Given the description of an element on the screen output the (x, y) to click on. 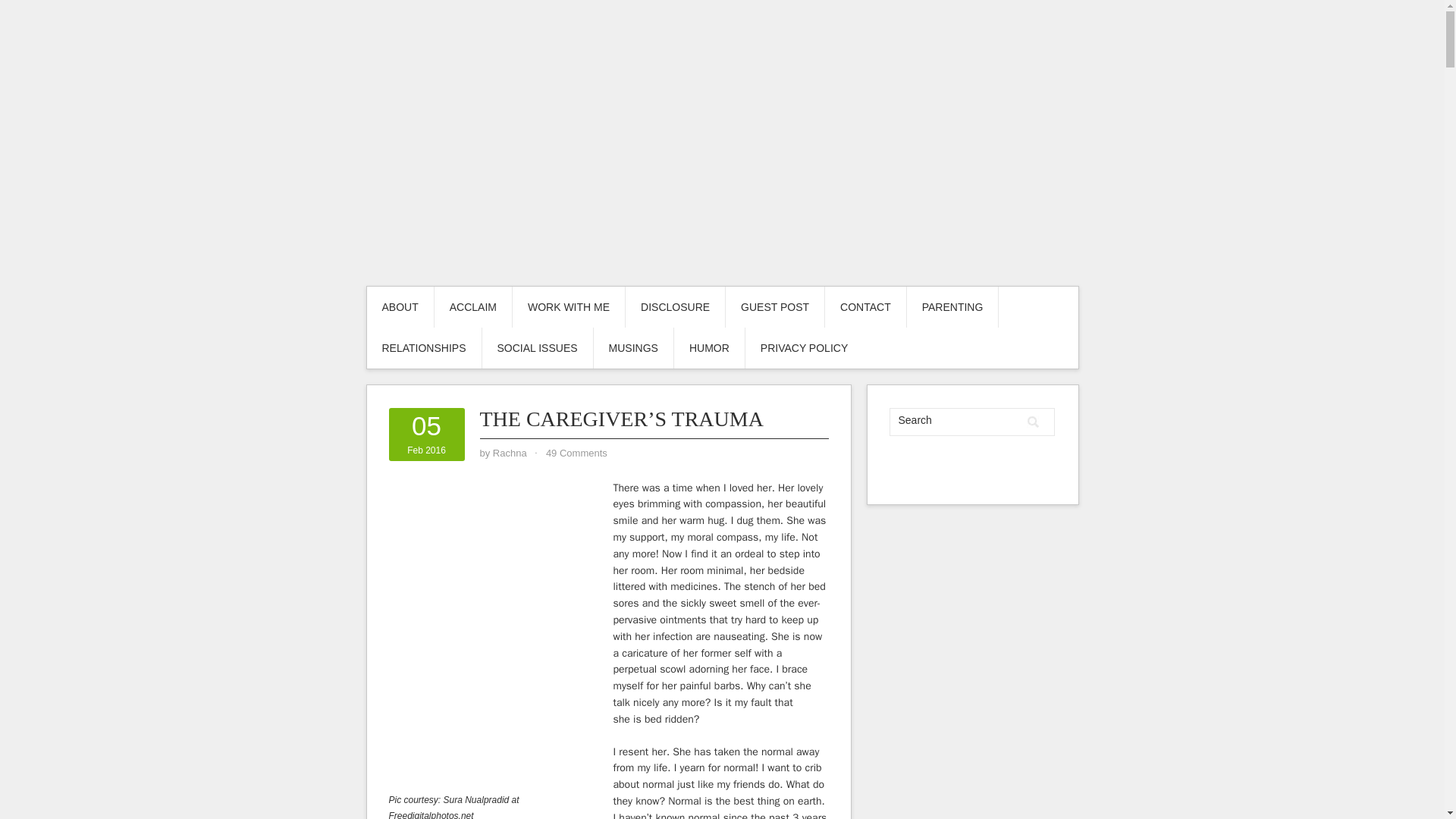
RELATIONSHIPS (423, 347)
49 Comments (576, 452)
by Rachna (510, 452)
February 5, 2016 11:50 am (426, 434)
CONTACT (865, 306)
Search (1032, 421)
GUEST POST (774, 306)
ACCLAIM (472, 306)
PRIVACY POLICY (804, 347)
